Given the description of an element on the screen output the (x, y) to click on. 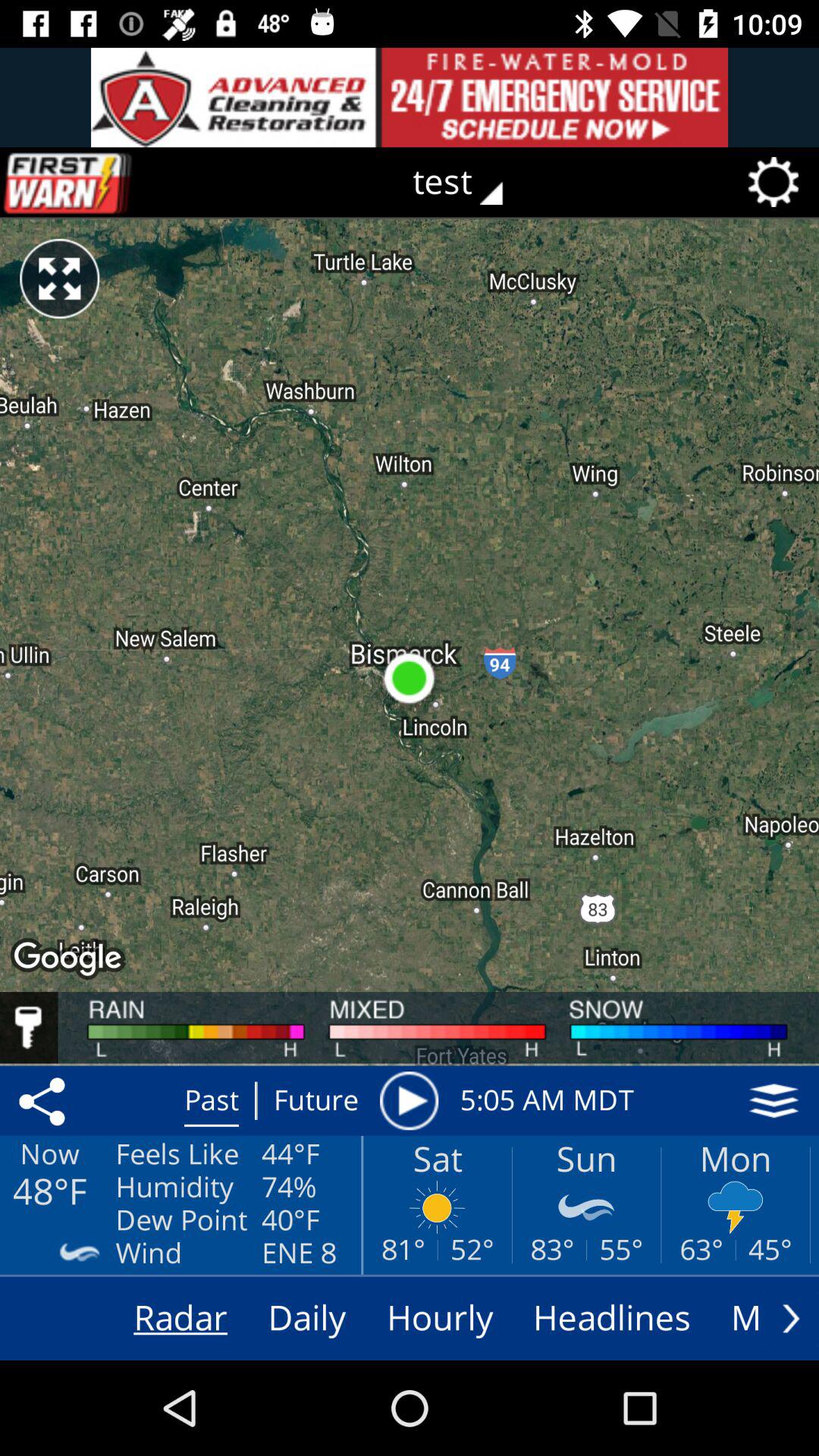
click on icon on the right side of 505 am mdt (774, 1100)
click on the play button right to the text future (409, 1100)
click on headlines (612, 1318)
click on daily (306, 1318)
